Given the description of an element on the screen output the (x, y) to click on. 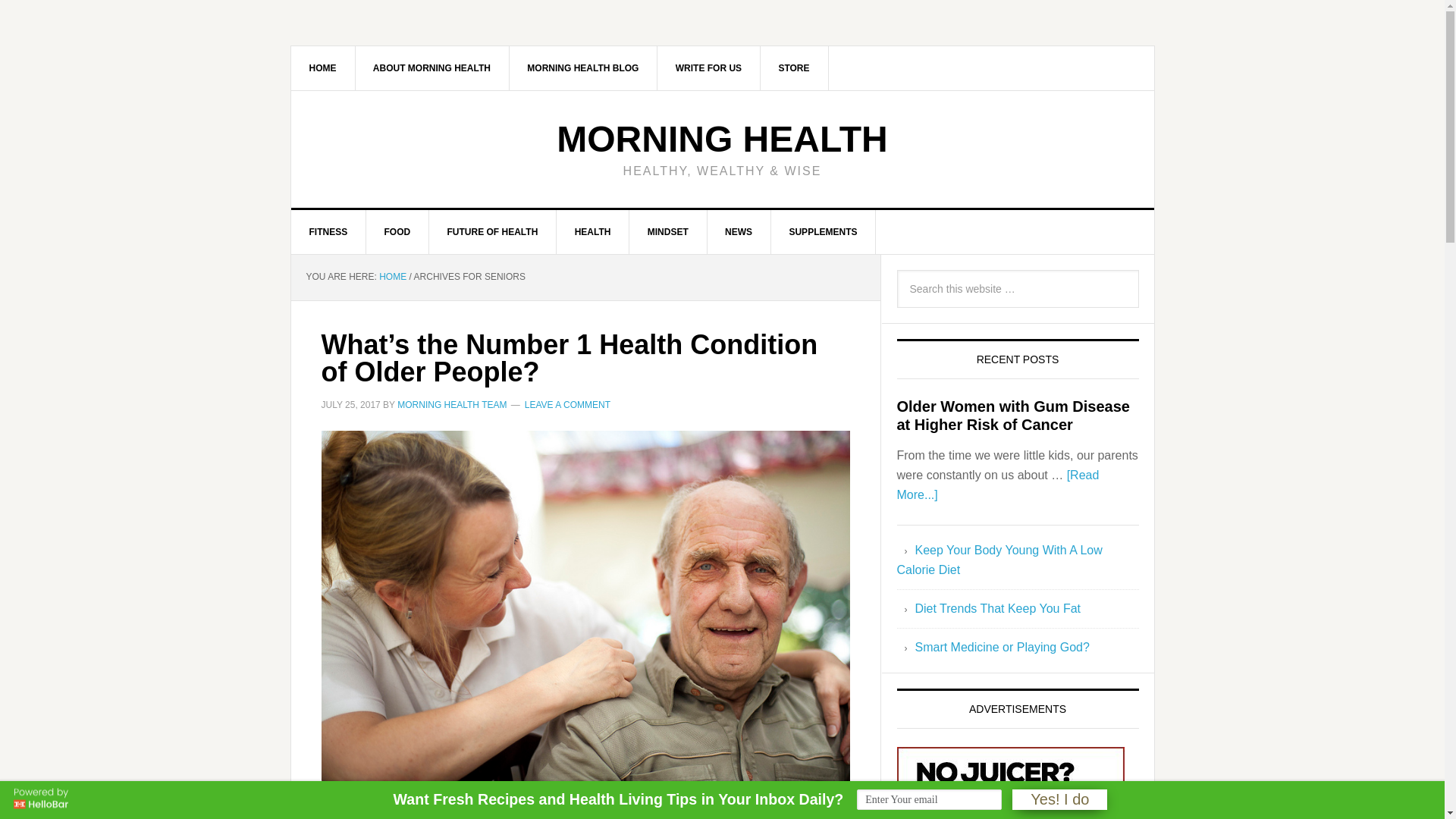
LEAVE A COMMENT (567, 403)
HOME (323, 67)
Older Women with Gum Disease at Higher Risk of Cancer (1012, 415)
NEWS (738, 231)
STORE (794, 67)
FUTURE OF HEALTH (493, 231)
MINDSET (667, 231)
Keep Your Body Young With A Low Calorie Diet (999, 559)
HEALTH (593, 231)
MORNING HEALTH (721, 138)
MORNING HEALTH TEAM (451, 403)
FOOD (397, 231)
Smart Medicine or Playing God? (1001, 646)
